Given the description of an element on the screen output the (x, y) to click on. 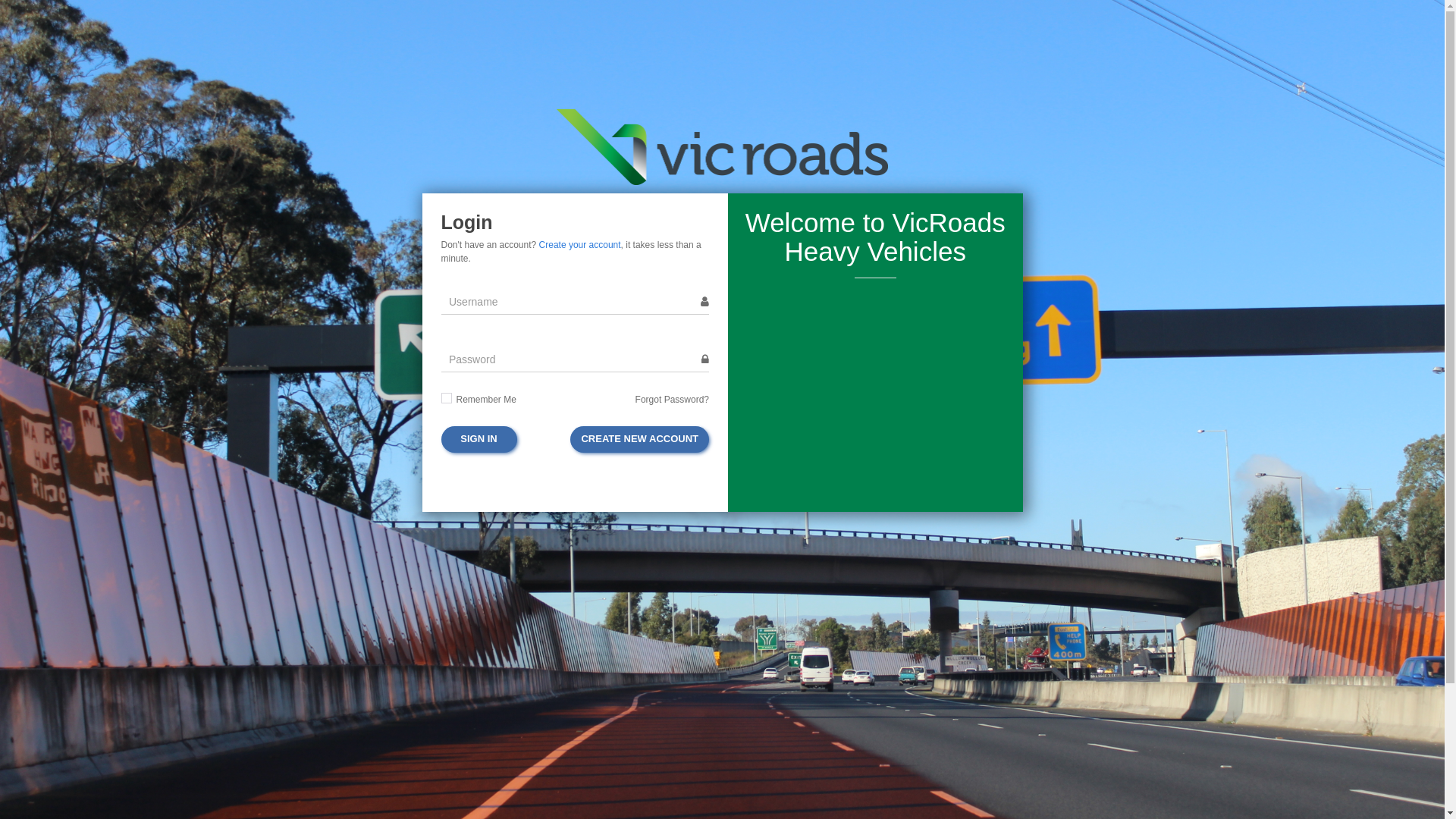
CREATE NEW ACCOUNT Element type: text (639, 439)
SIGN IN Element type: text (479, 439)
Create your account Element type: text (580, 244)
Forgot Password? Element type: text (672, 399)
VicRoads Heavy Vehicles Element type: hover (722, 147)
